Given the description of an element on the screen output the (x, y) to click on. 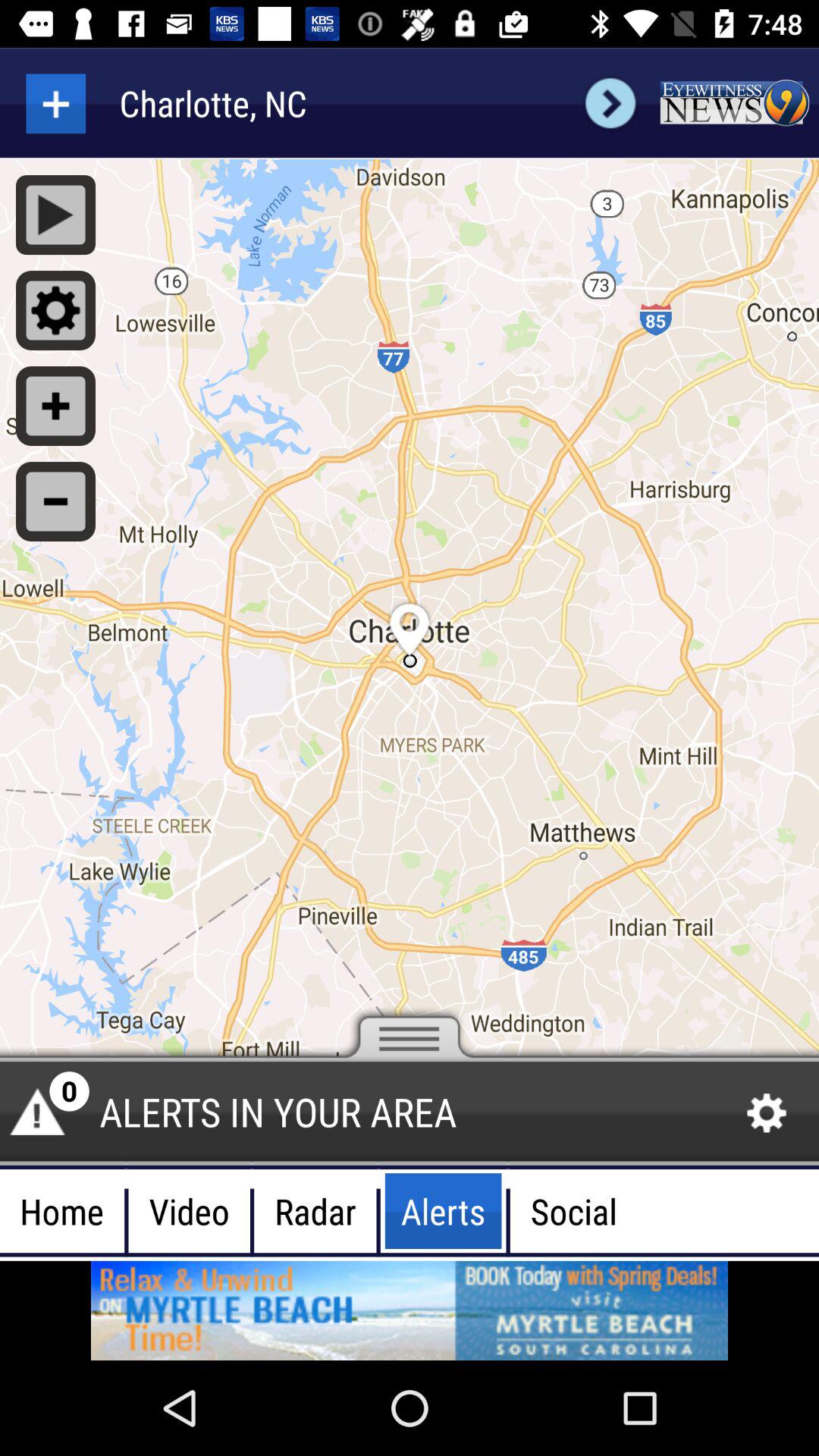
add place (55, 103)
